Given the description of an element on the screen output the (x, y) to click on. 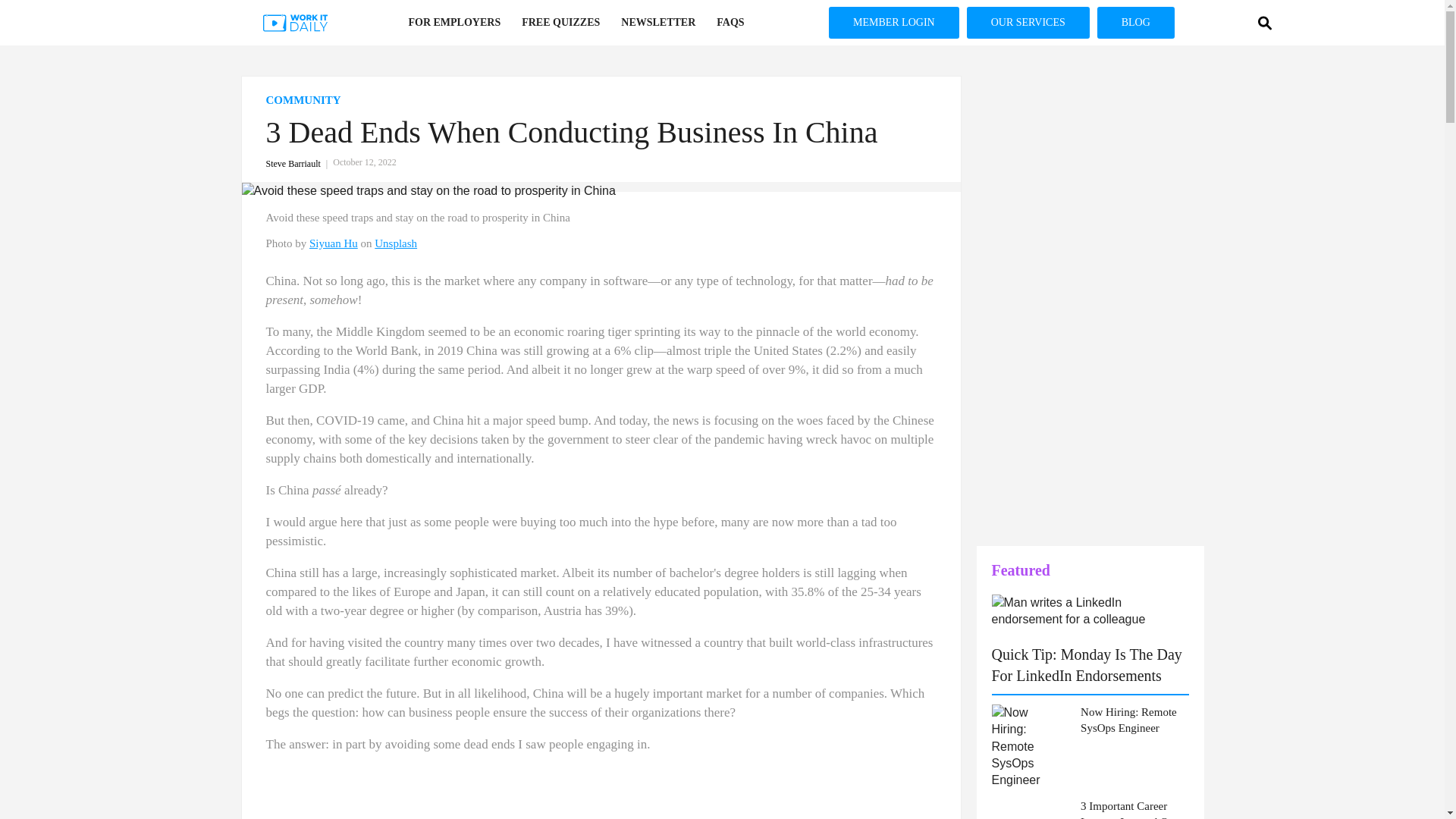
FAQS (730, 22)
Steve Barriault (298, 163)
BLOG (1135, 22)
MEMBER LOGIN (893, 22)
NEWSLETTER (658, 22)
FOR EMPLOYERS (454, 22)
OUR SERVICES (1027, 22)
COMMUNITY (600, 99)
FREE QUIZZES (560, 22)
Siyuan Hu (333, 243)
Unsplash (395, 243)
